Given the description of an element on the screen output the (x, y) to click on. 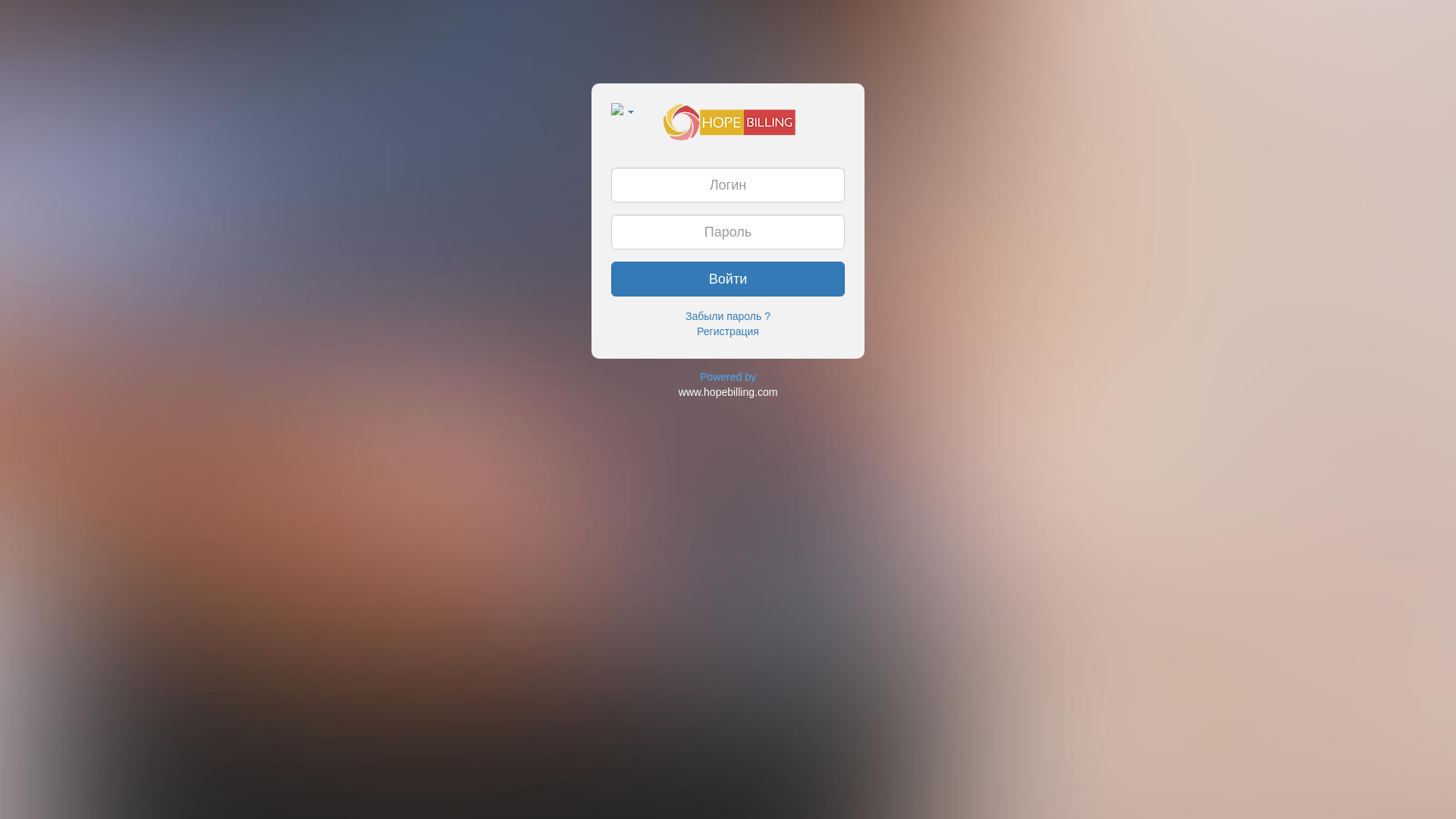
www.hopebilling.com Element type: text (728, 391)
